Given the description of an element on the screen output the (x, y) to click on. 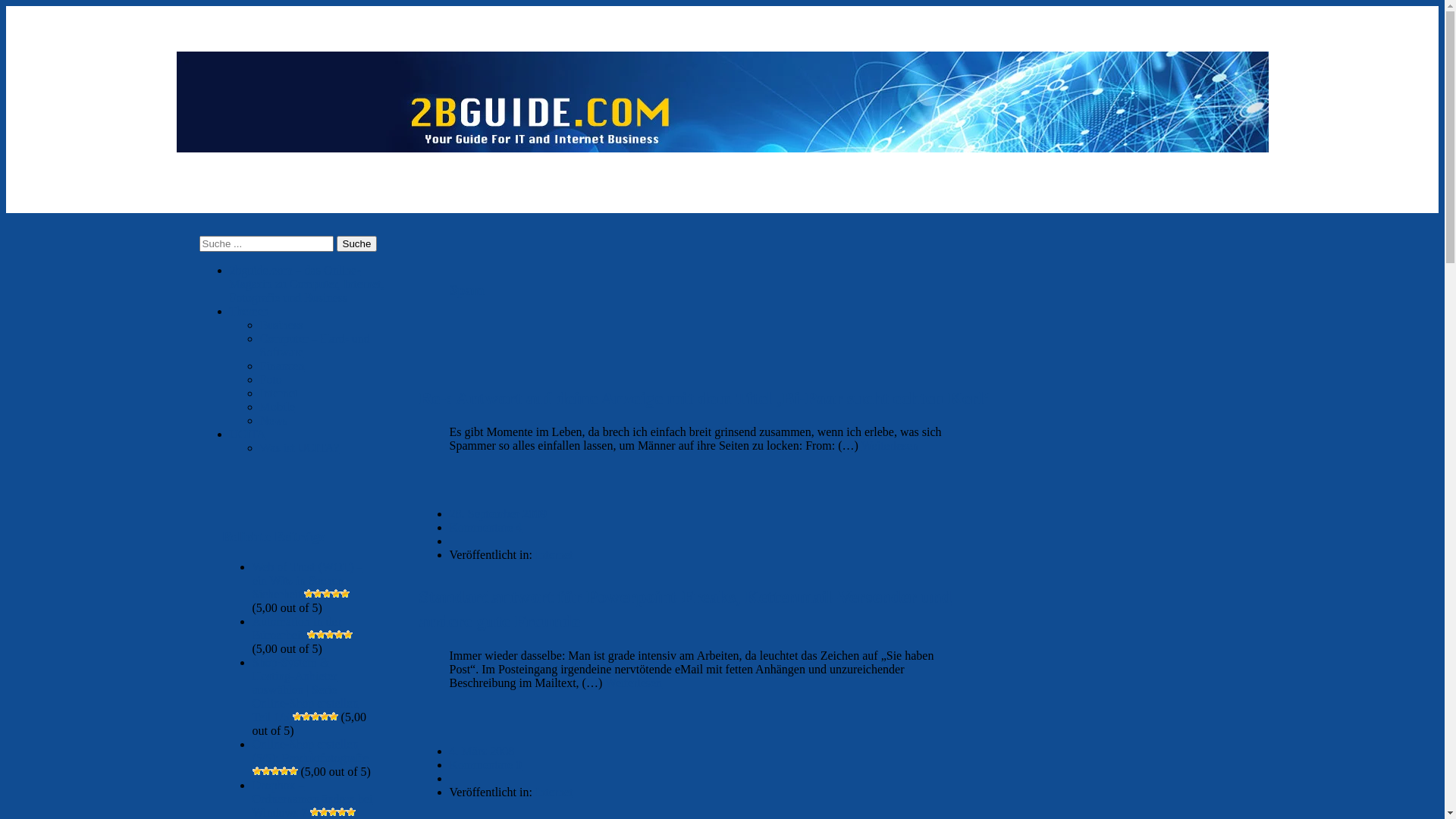
2 votes, average: 5,00 out of 5 Element type: hover (329, 634)
Internet Element type: text (554, 554)
1 vote, average: 5,00 out of 5 Element type: hover (333, 716)
Business Element type: text (280, 324)
1 vote, average: 5,00 out of 5 Element type: hover (315, 716)
2 votes, average: 5,00 out of 5 Element type: hover (317, 593)
1 vote, average: 5,00 out of 5 Element type: hover (314, 811)
Suche Element type: text (356, 243)
Online-Shop erstellen (5/5): Produktfotografie Element type: text (309, 750)
1 vote, average: 5,00 out of 5 Element type: hover (274, 770)
Mobile Element type: text (276, 406)
28. September 2009 Element type: text (497, 513)
1 vote, average: 5,00 out of 5 Element type: hover (283, 770)
2 votes, average: 5,00 out of 5 Element type: hover (326, 593)
2 votes, average: 5,00 out of 5 Element type: hover (344, 593)
1 vote, average: 5,00 out of 5 Element type: hover (332, 811)
Weiterlesen Element type: text (633, 682)
1 vote, average: 5,00 out of 5 Element type: hover (255, 770)
2 votes, average: 5,00 out of 5 Element type: hover (347, 634)
1 vote, average: 5,00 out of 5 Element type: hover (296, 716)
Was ist UCITA? Element type: text (298, 447)
1 vote, average: 5,00 out of 5 Element type: hover (350, 811)
Finanzen Element type: text (281, 365)
1 vote, average: 5,00 out of 5 Element type: hover (305, 716)
Internet Element type: text (278, 392)
1 vote, average: 5,00 out of 5 Element type: hover (341, 811)
1 vote, average: 5,00 out of 5 Element type: hover (324, 716)
1 vote, average: 5,00 out of 5 Element type: hover (323, 811)
2 votes, average: 5,00 out of 5 Element type: hover (308, 593)
Weiterlesen Element type: text (889, 445)
UCITA Element type: text (247, 433)
Kommentare 0 Element type: text (484, 764)
2 votes, average: 5,00 out of 5 Element type: hover (320, 634)
2 votes, average: 5,00 out of 5 Element type: hover (338, 634)
Kommentare 4 Element type: text (484, 526)
2 votes, average: 5,00 out of 5 Element type: hover (311, 634)
1 vote, average: 5,00 out of 5 Element type: hover (264, 770)
Themen Element type: text (248, 310)
2 votes, average: 5,00 out of 5 Element type: hover (335, 593)
News Element type: text (272, 420)
1 vote, average: 5,00 out of 5 Element type: hover (292, 770)
Foto Element type: text (270, 379)
Internet Element type: text (554, 791)
